Given the description of an element on the screen output the (x, y) to click on. 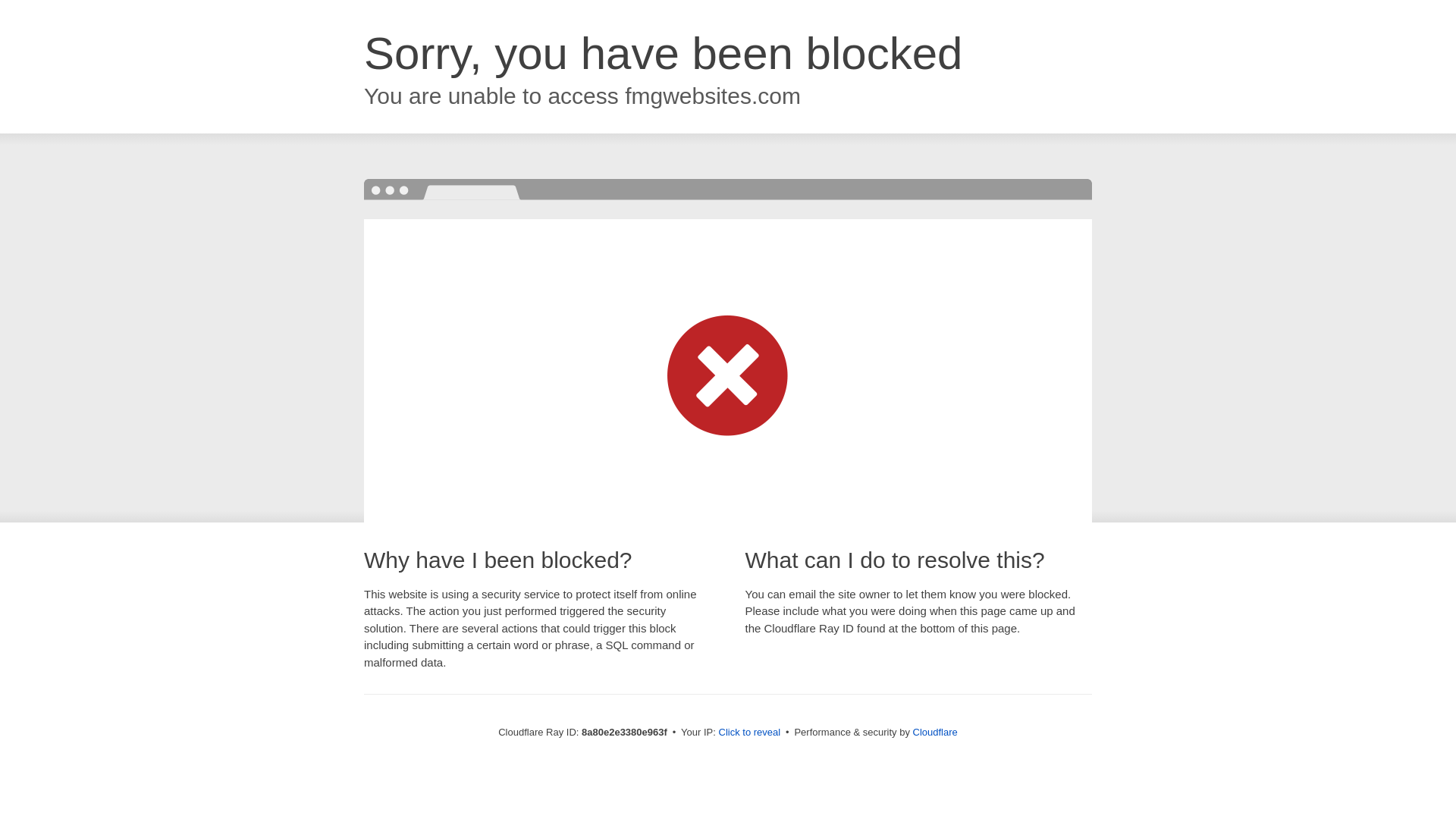
Click to reveal (749, 732)
Cloudflare (935, 731)
